Given the description of an element on the screen output the (x, y) to click on. 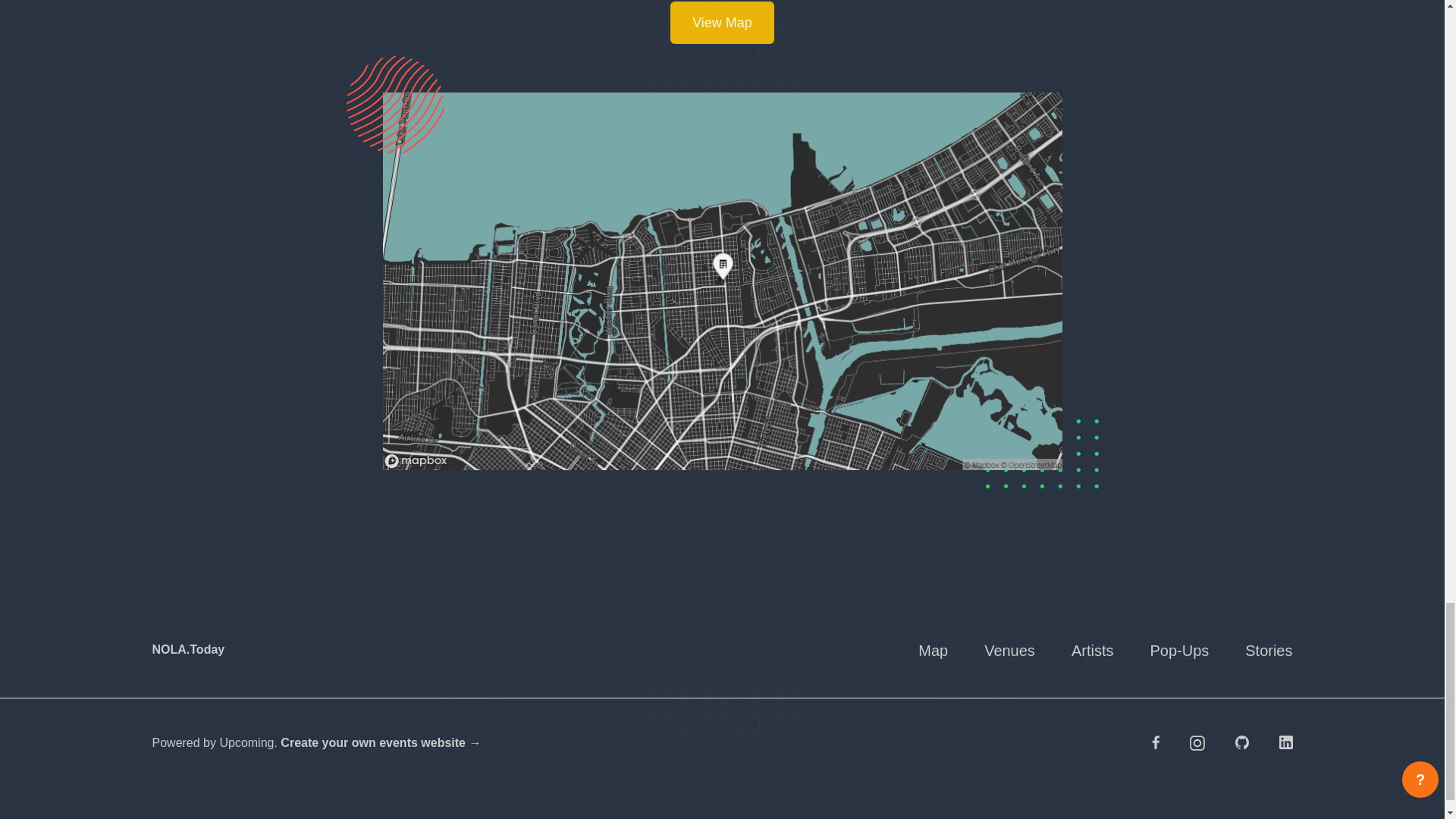
Venues (1009, 649)
Pop-Ups (1179, 649)
Map (932, 649)
NOLA.Today (187, 649)
Stories (1268, 649)
View Map (721, 22)
Artists (1092, 649)
